Given the description of an element on the screen output the (x, y) to click on. 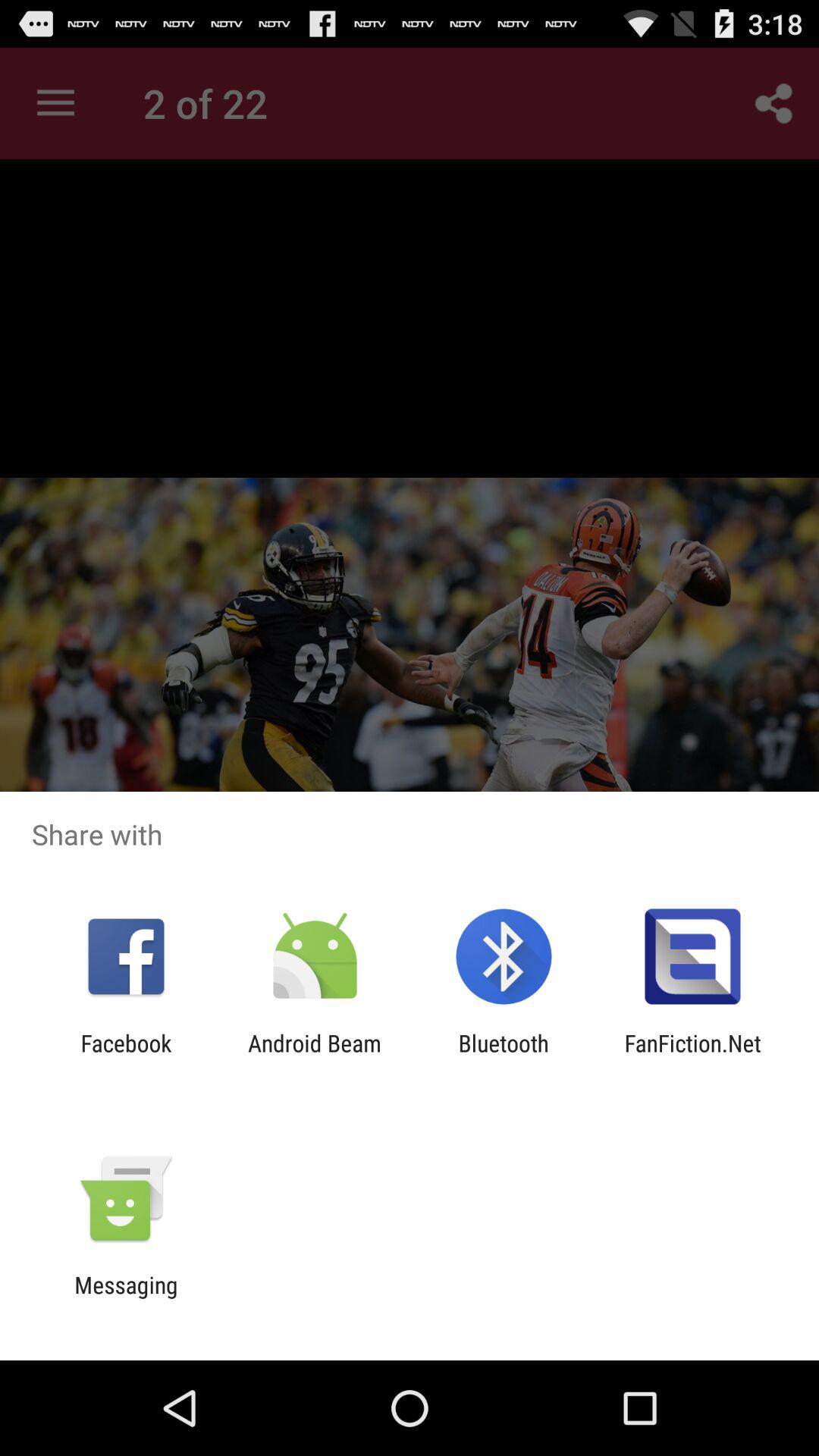
tap the icon next to android beam app (503, 1056)
